Given the description of an element on the screen output the (x, y) to click on. 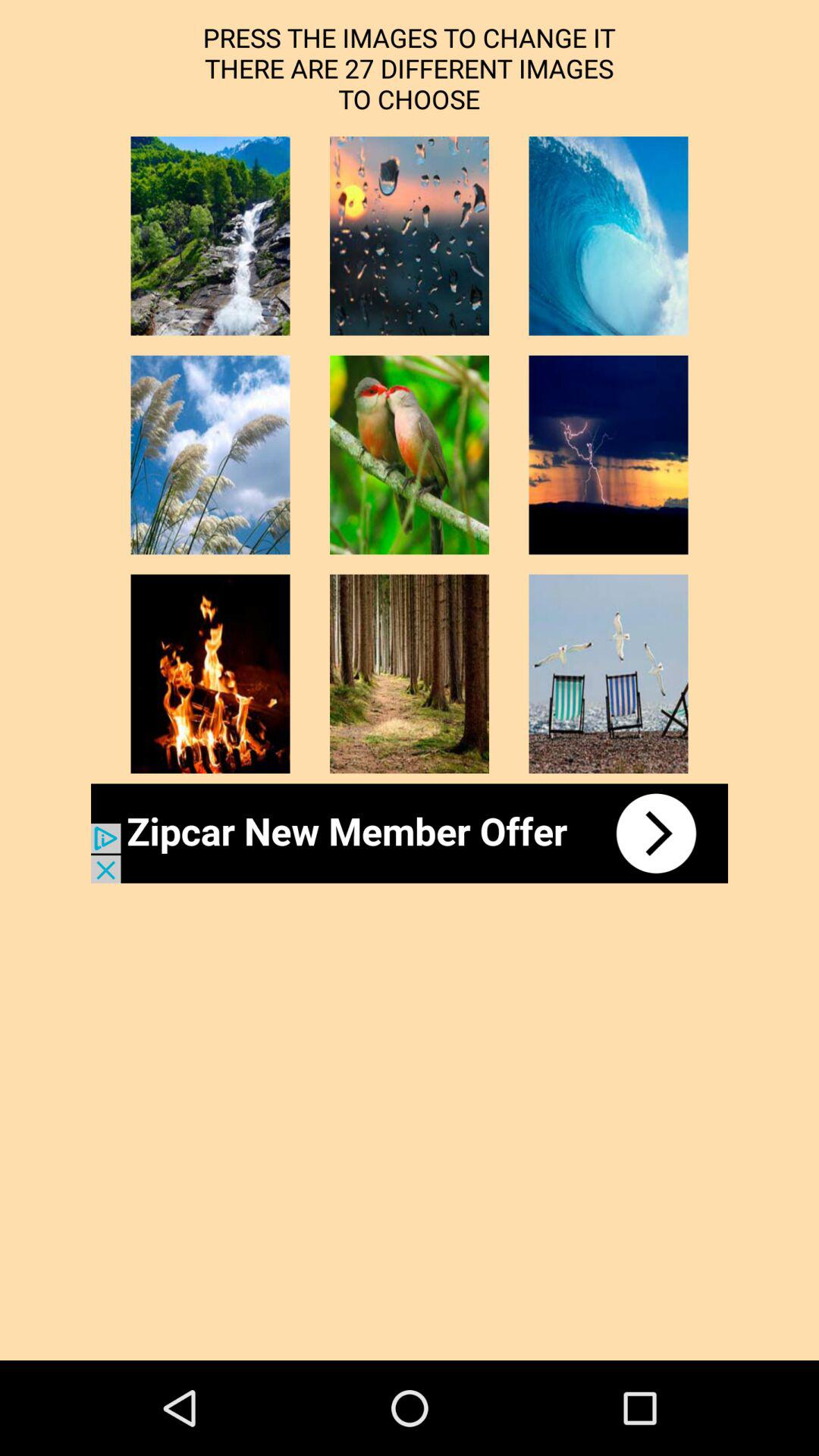
choose the image (409, 673)
